Given the description of an element on the screen output the (x, y) to click on. 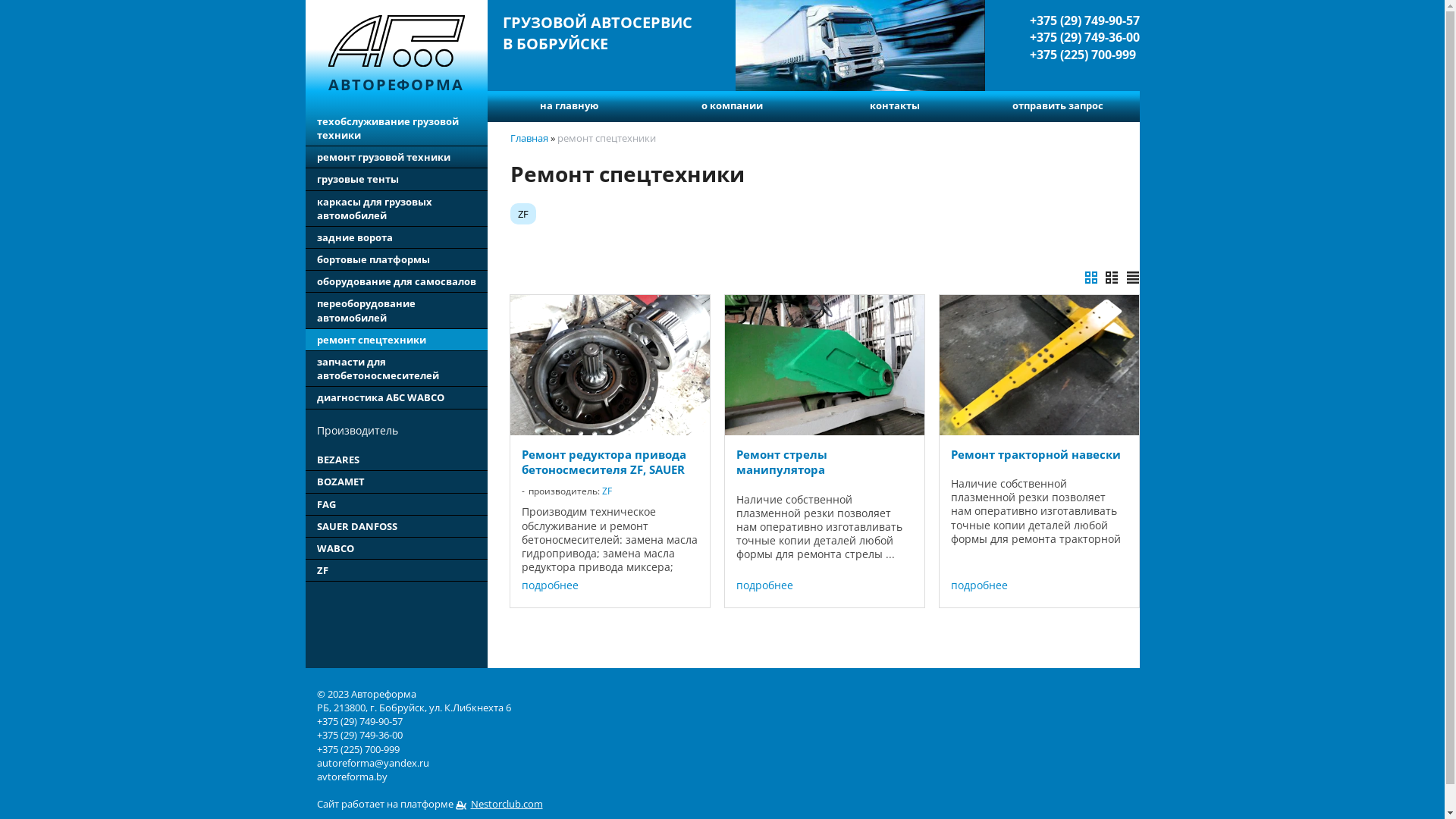
+375 (29) 749-36-00 Element type: text (1084, 36)
+375 (225) 700-999 Element type: text (357, 749)
+375 (29) 749-90-57 Element type: text (1084, 20)
FAG Element type: text (395, 504)
+375 (29) 749-36-00 Element type: text (359, 734)
ZF Element type: text (606, 490)
WABCO Element type: text (395, 548)
ZF Element type: text (522, 213)
Nestorclub.com Element type: text (498, 803)
ZF Element type: text (395, 570)
+375 (225) 700-999 Element type: text (1084, 54)
BEZARES Element type: text (395, 459)
BOZAMET Element type: text (395, 481)
+375 (29) 749-90-57 Element type: text (359, 721)
avtoreforma.by Element type: text (351, 776)
SAUER DANFOSS Element type: text (395, 526)
autoreforma@yandex.ru Element type: text (372, 762)
